Given the description of an element on the screen output the (x, y) to click on. 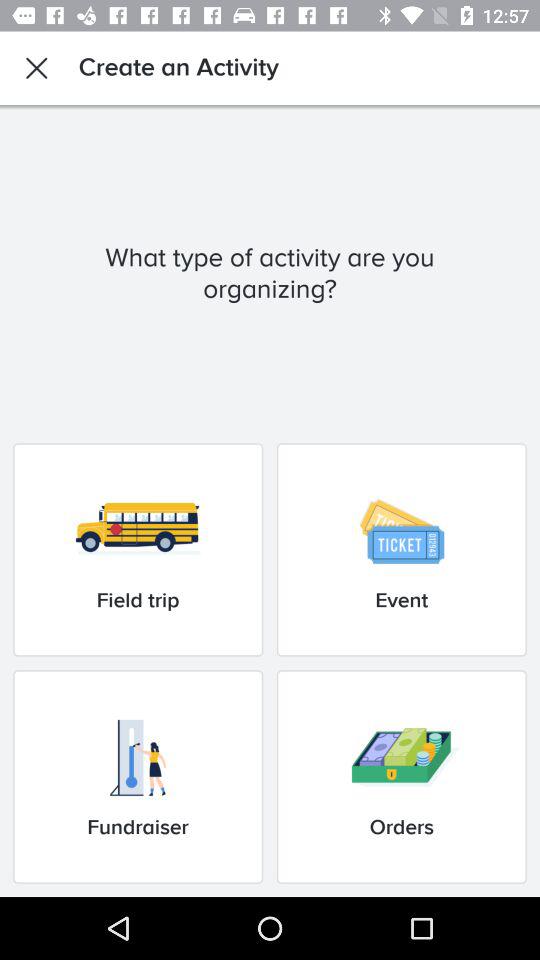
select item to the left of the event item (138, 549)
